Given the description of an element on the screen output the (x, y) to click on. 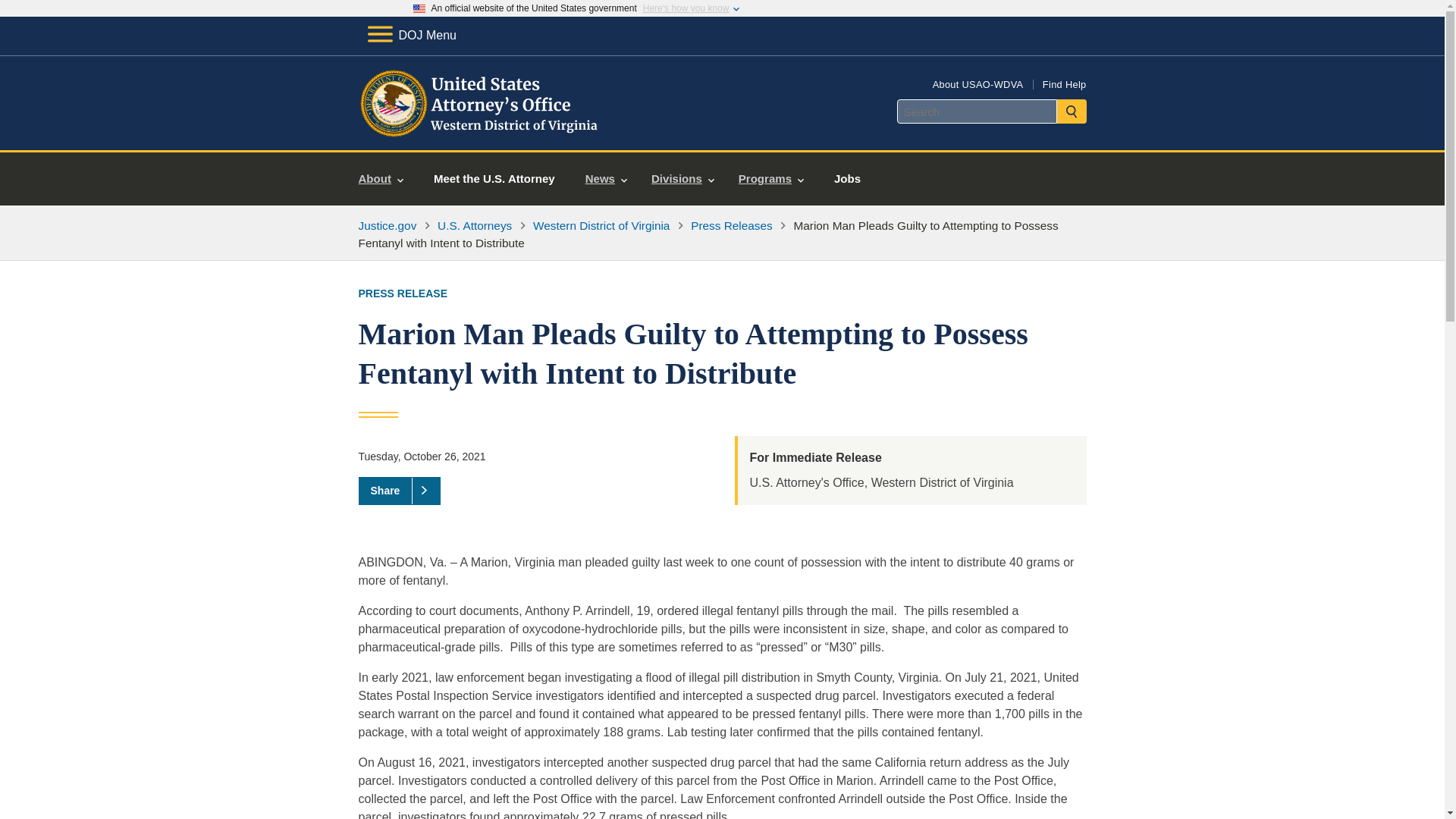
About (380, 179)
Divisions (682, 179)
Home (481, 132)
Meet the U.S. Attorney (493, 179)
Press Releases (731, 225)
Share (398, 490)
DOJ Menu (411, 35)
Here's how you know (686, 8)
Justice.gov (387, 225)
Western District of Virginia (600, 225)
U.S. Attorneys (475, 225)
Programs (770, 179)
Jobs (847, 179)
About USAO-WDVA (978, 84)
Find Help (1064, 84)
